Given the description of an element on the screen output the (x, y) to click on. 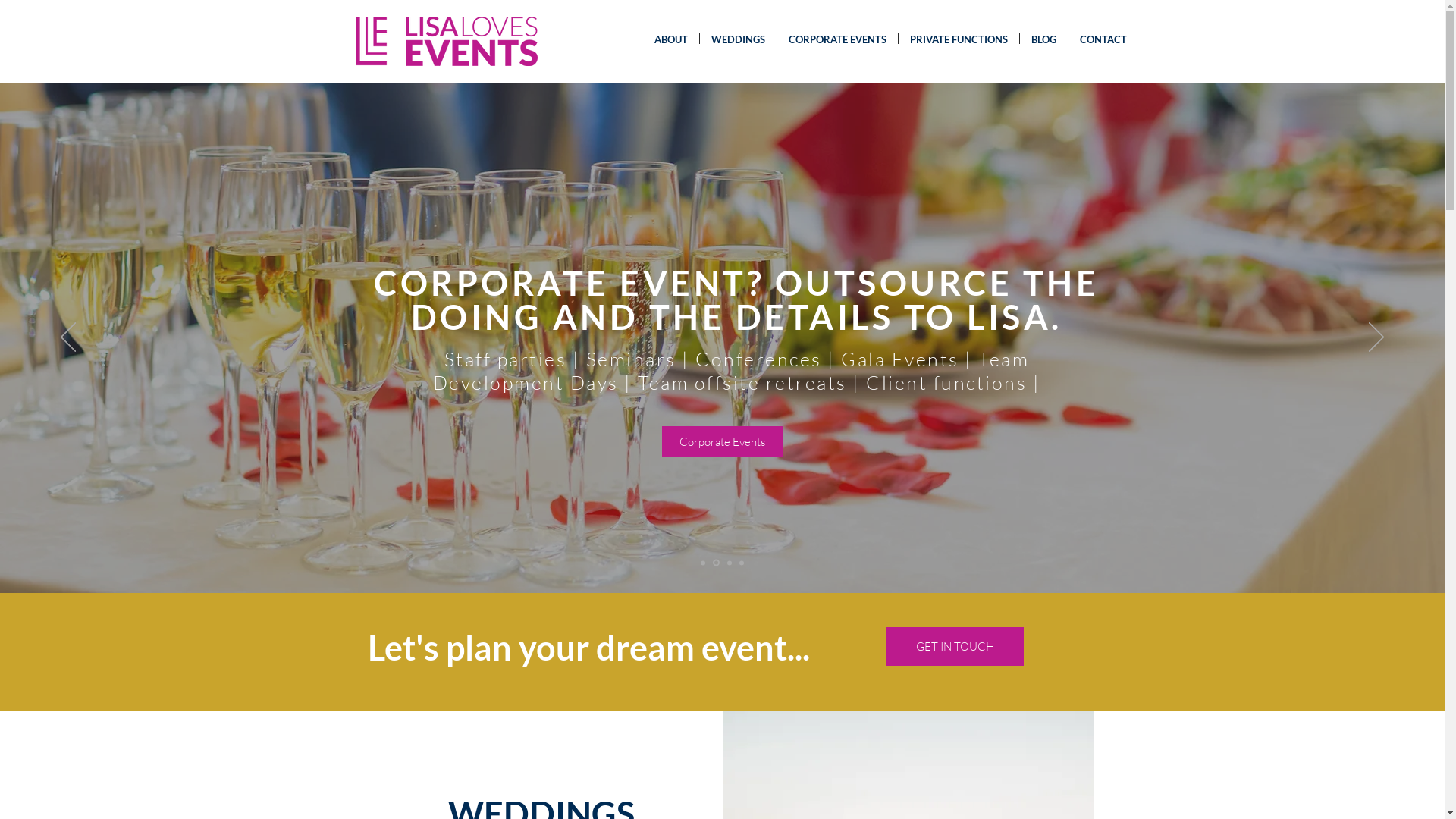
Corporate Events Element type: text (721, 441)
CORPORATE EVENTS Element type: text (836, 37)
BLOG Element type: text (1042, 37)
PRIVATE FUNCTIONS Element type: text (957, 37)
WEDDINGS Element type: text (737, 37)
Embedded Content Element type: hover (273, 25)
GET IN TOUCH Element type: text (953, 646)
ABOUT Element type: text (671, 37)
CONTACT Element type: text (1102, 37)
